Given the description of an element on the screen output the (x, y) to click on. 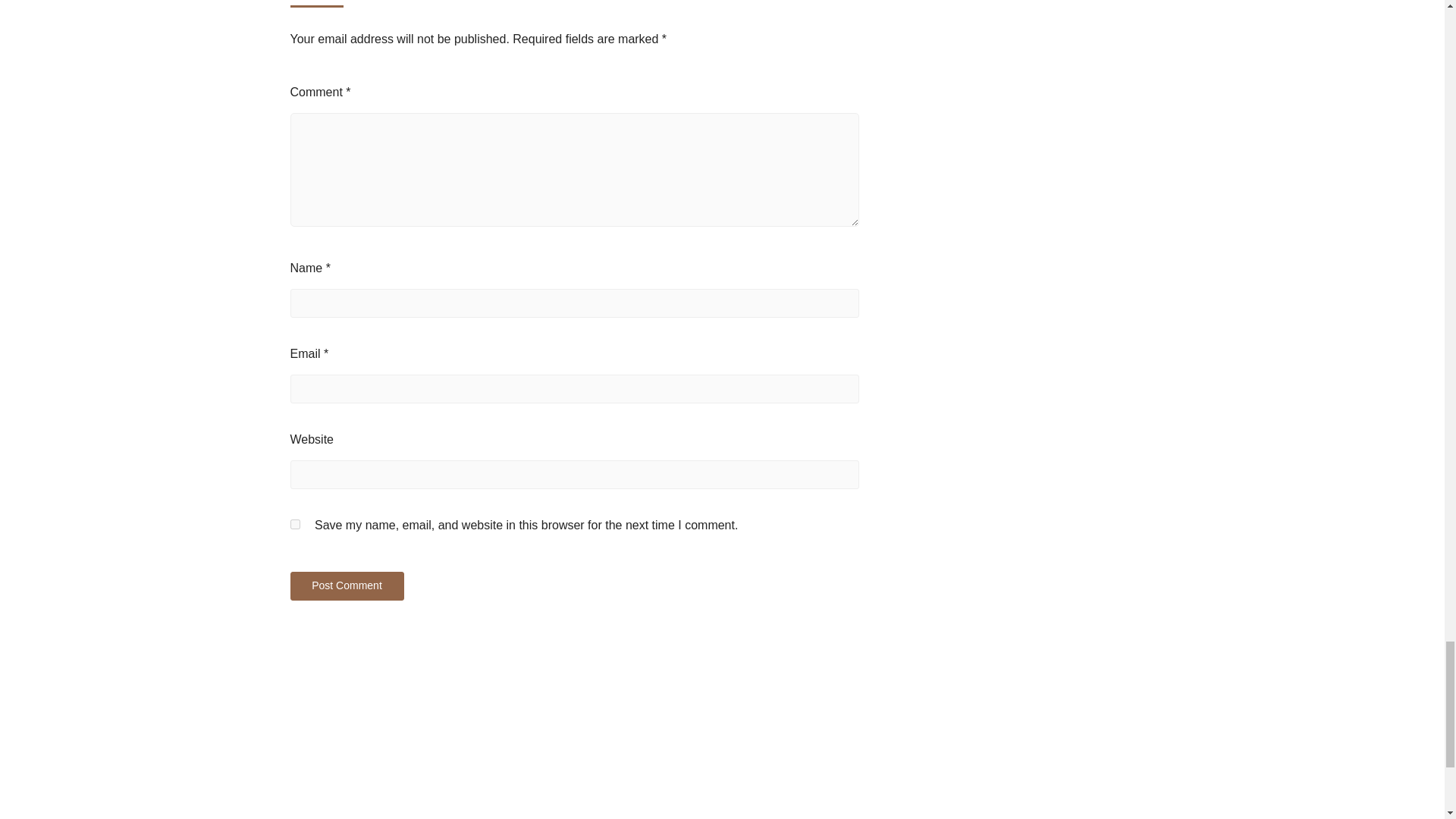
yes (294, 524)
Post Comment (346, 585)
Post Comment (346, 585)
